Given the description of an element on the screen output the (x, y) to click on. 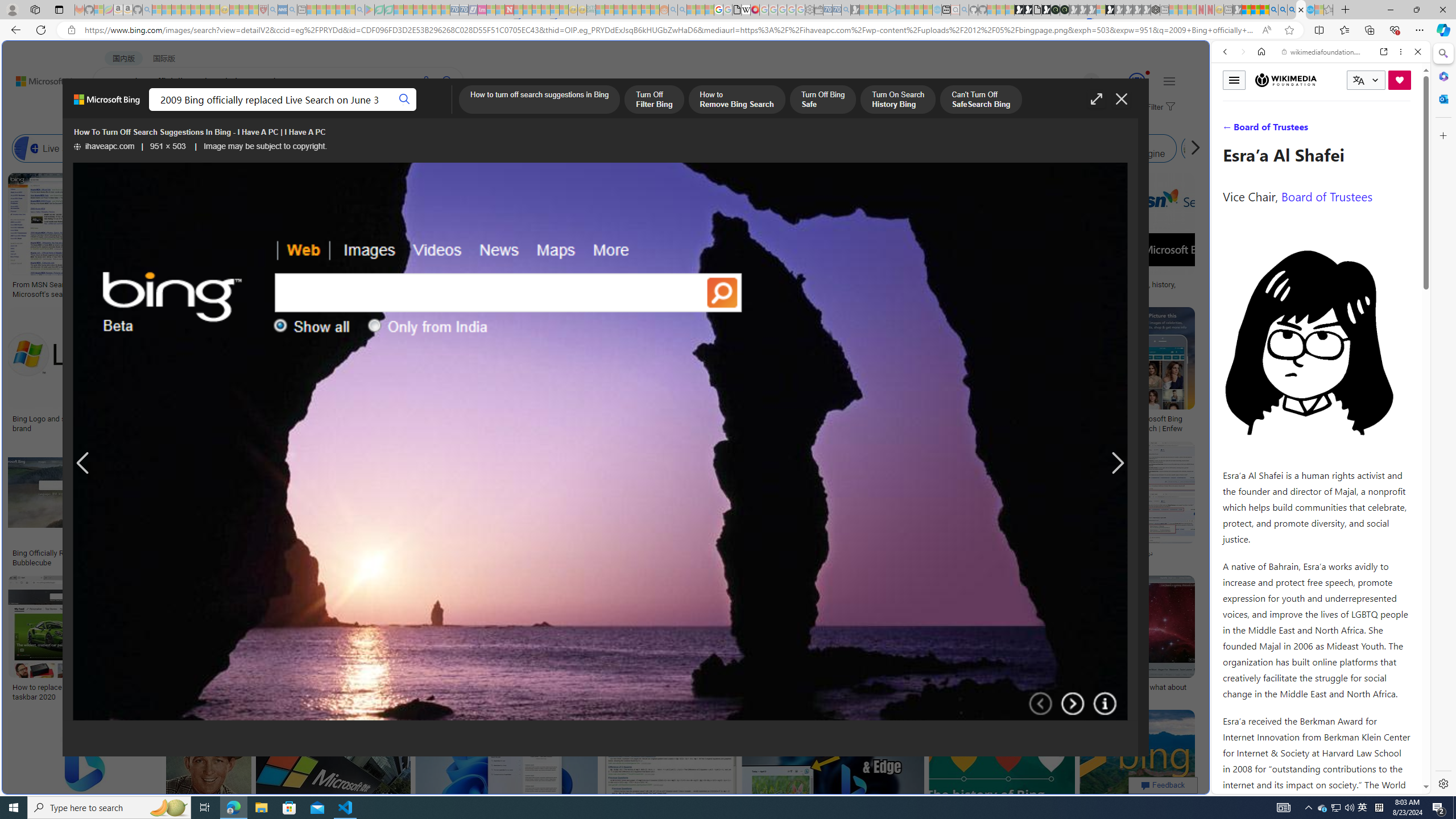
Search or enter web address (922, 108)
utah sues federal government - Search (922, 389)
Microsoft Bing Search | EnfewSave (1162, 371)
Wikimedia Foundation (1285, 79)
Bluey: Let's Play! - Apps on Google Play - Sleeping (369, 9)
